Given the description of an element on the screen output the (x, y) to click on. 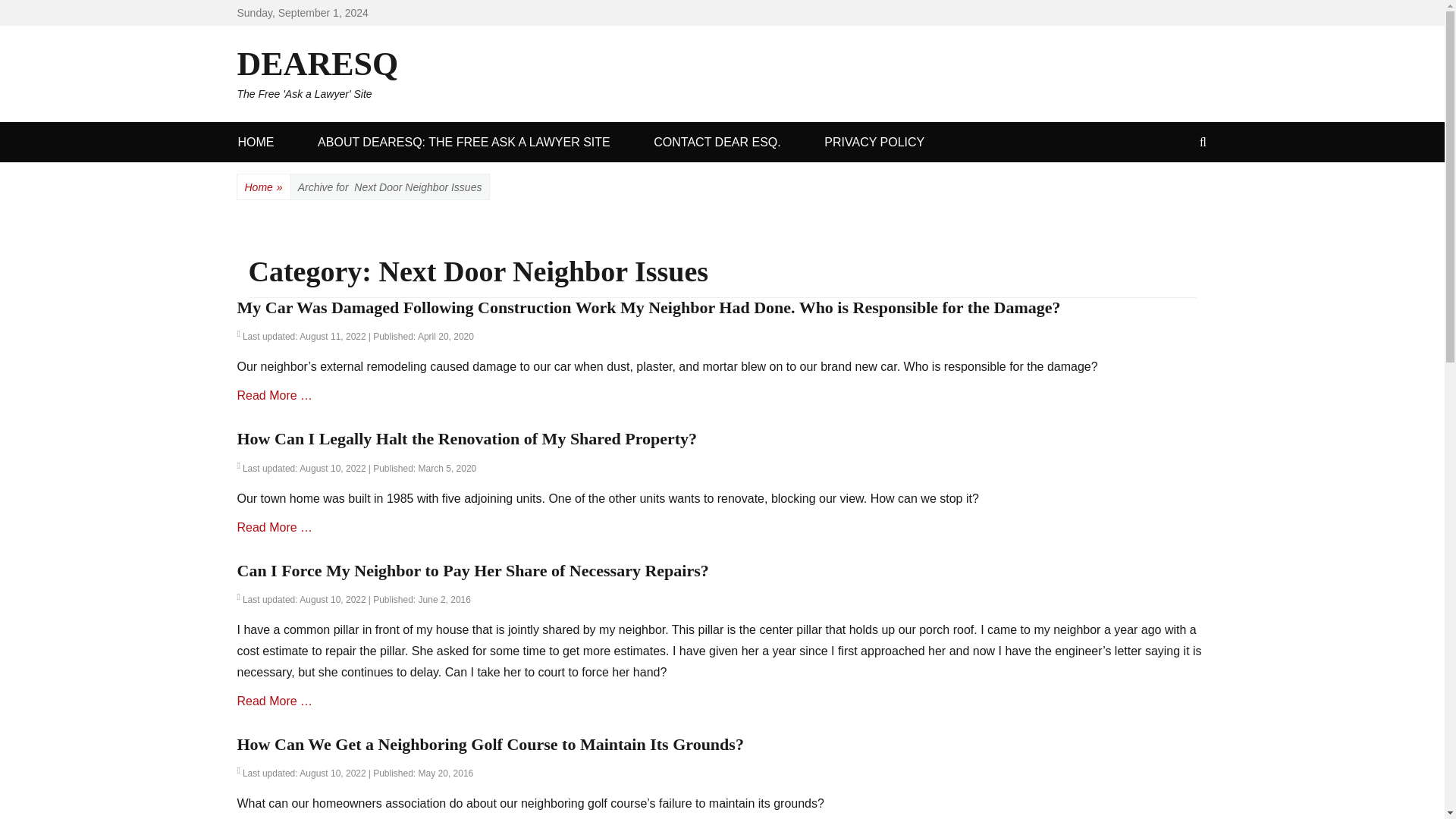
CONTACT DEAR ESQ. (717, 142)
DEARESQ (316, 63)
PRIVACY POLICY (874, 142)
HOME (354, 336)
